Given the description of an element on the screen output the (x, y) to click on. 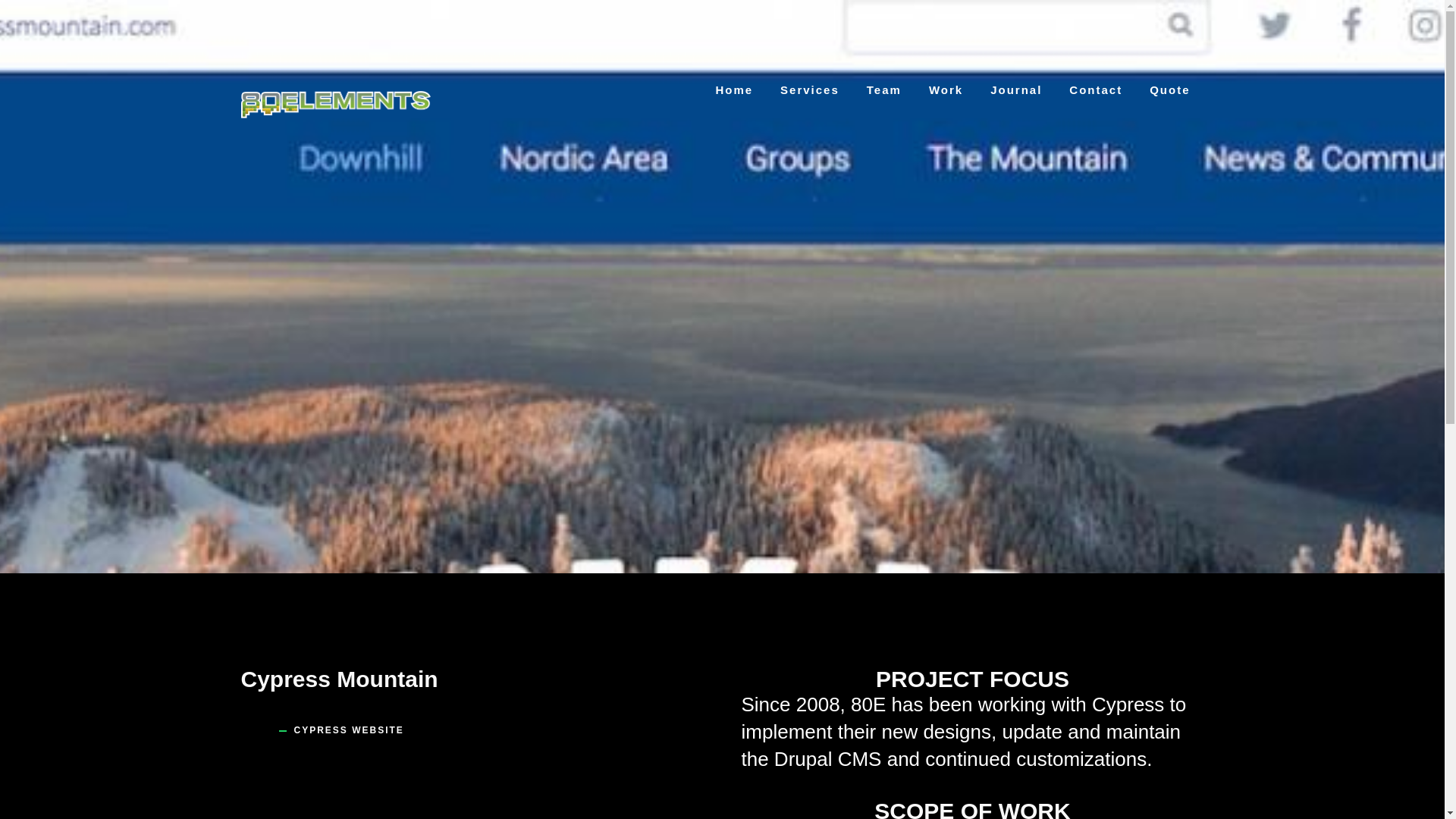
Home (734, 90)
Team (884, 90)
Contact (1095, 90)
Journal (1015, 90)
Work (945, 90)
Quote (1169, 90)
Services (810, 90)
